Given the description of an element on the screen output the (x, y) to click on. 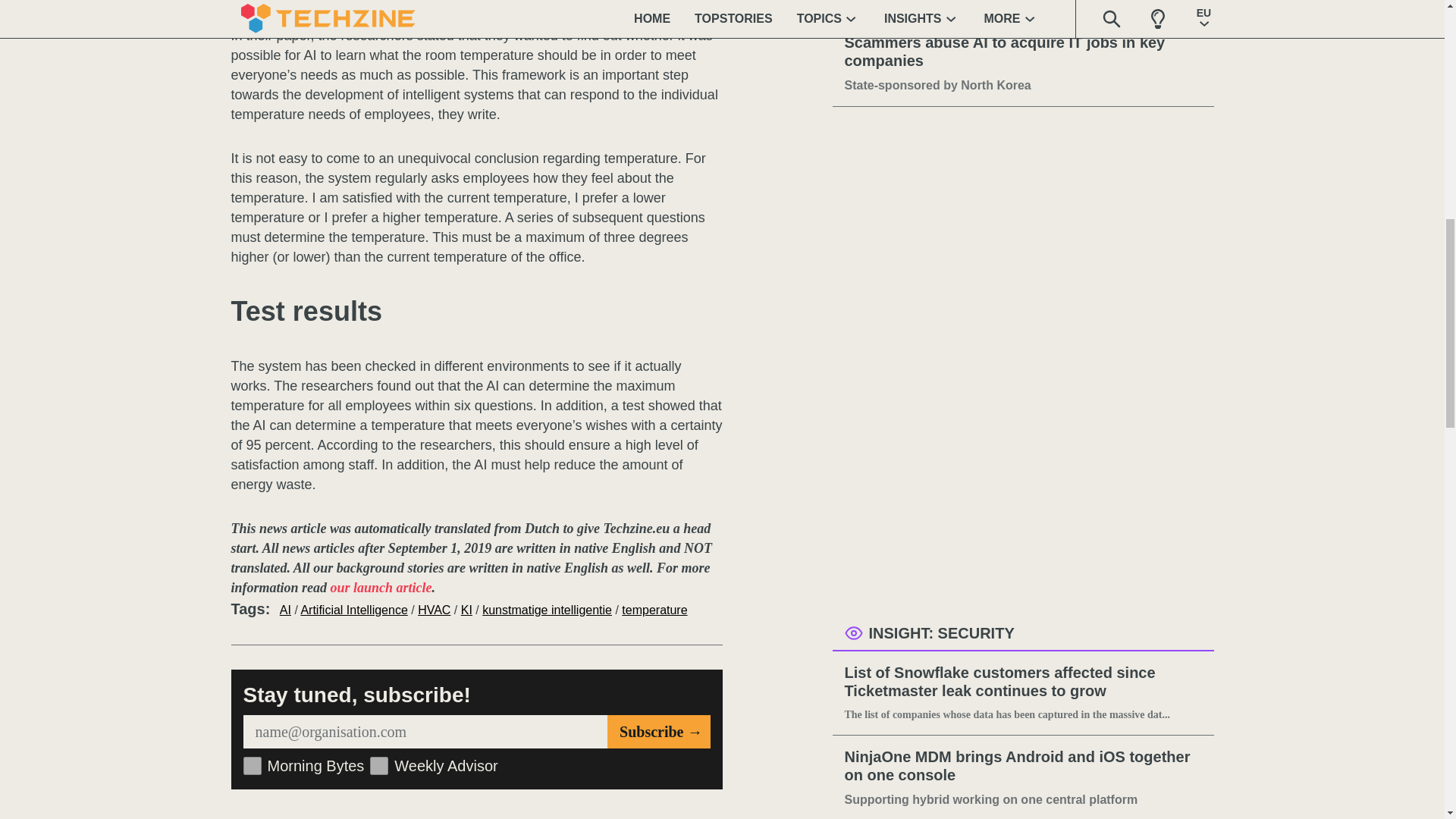
Scammers abuse AI to acquire IT jobs in key companies (1023, 52)
NinjaOne MDM brings Android and iOS together on one console (1023, 766)
84623970802861205 (251, 765)
84623981521405447 (378, 765)
